Given the description of an element on the screen output the (x, y) to click on. 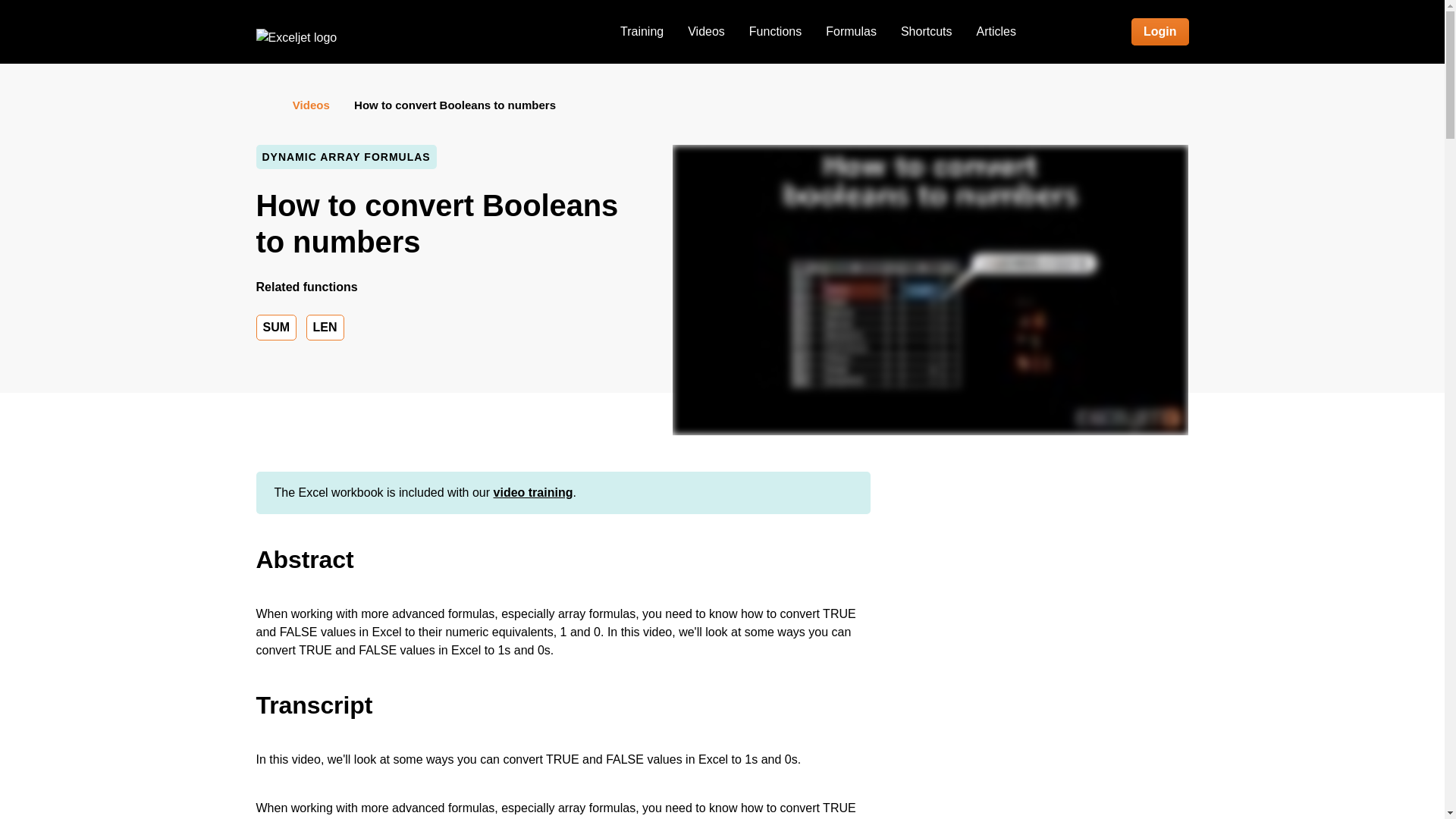
Shortcuts (925, 31)
Training (641, 31)
Videos (705, 31)
LEN (324, 327)
Exceljet (296, 37)
Exceljet Video Training (641, 31)
Exceljet Blog (995, 31)
Login (1160, 31)
Cart (1082, 31)
